Given the description of an element on the screen output the (x, y) to click on. 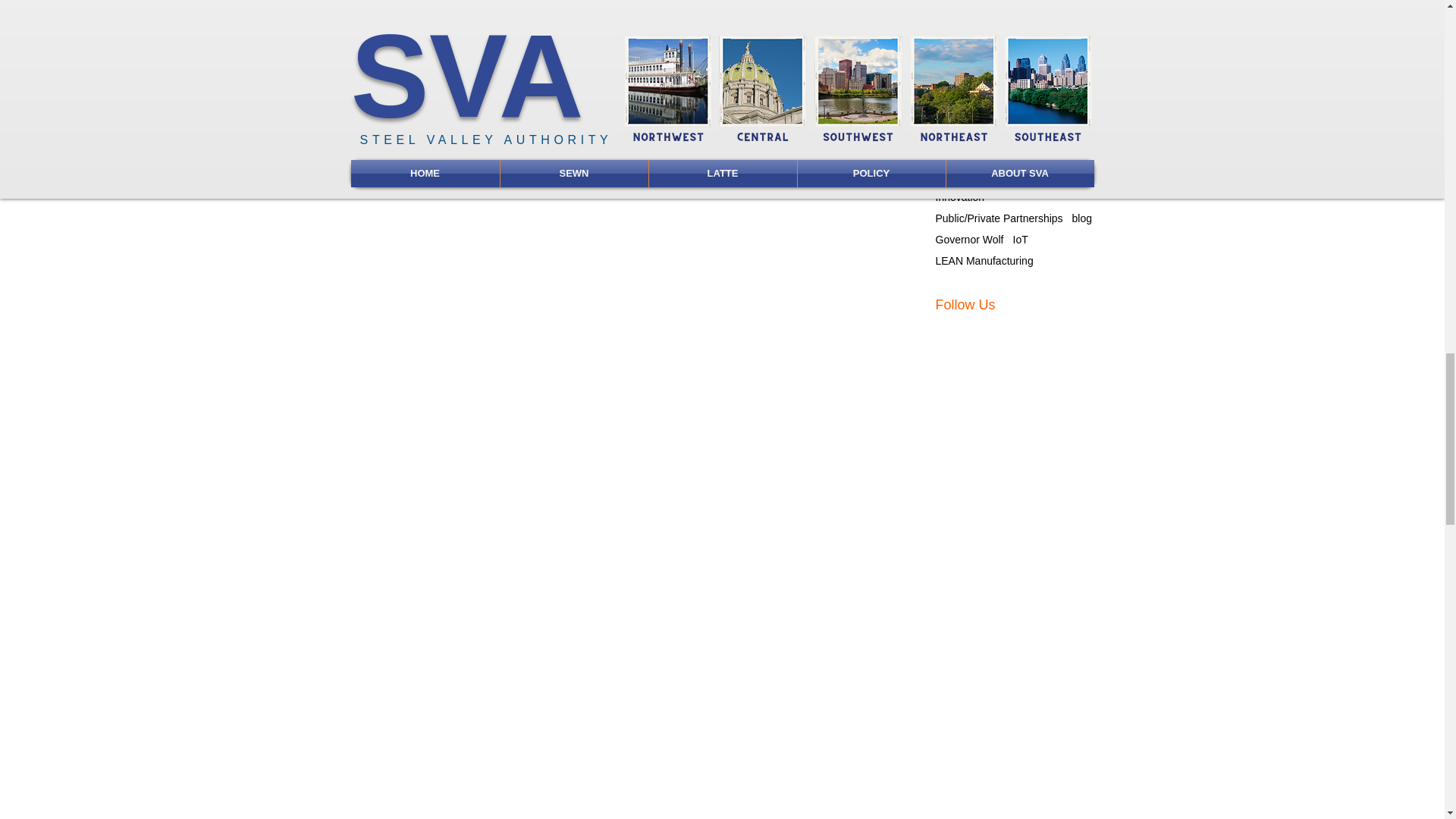
Post not marked as liked (867, 1)
